Given the description of an element on the screen output the (x, y) to click on. 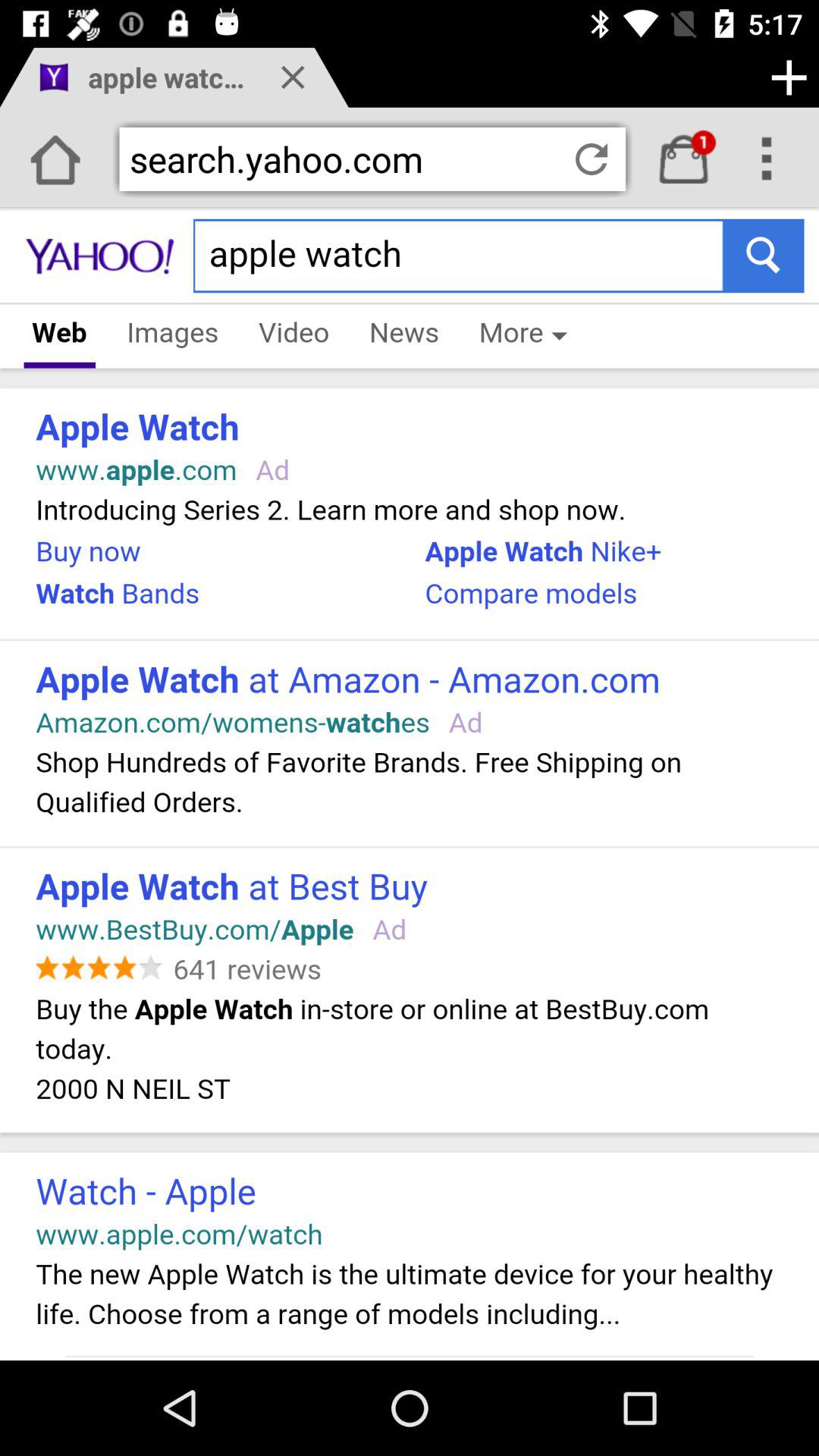
inbox (683, 159)
